Given the description of an element on the screen output the (x, y) to click on. 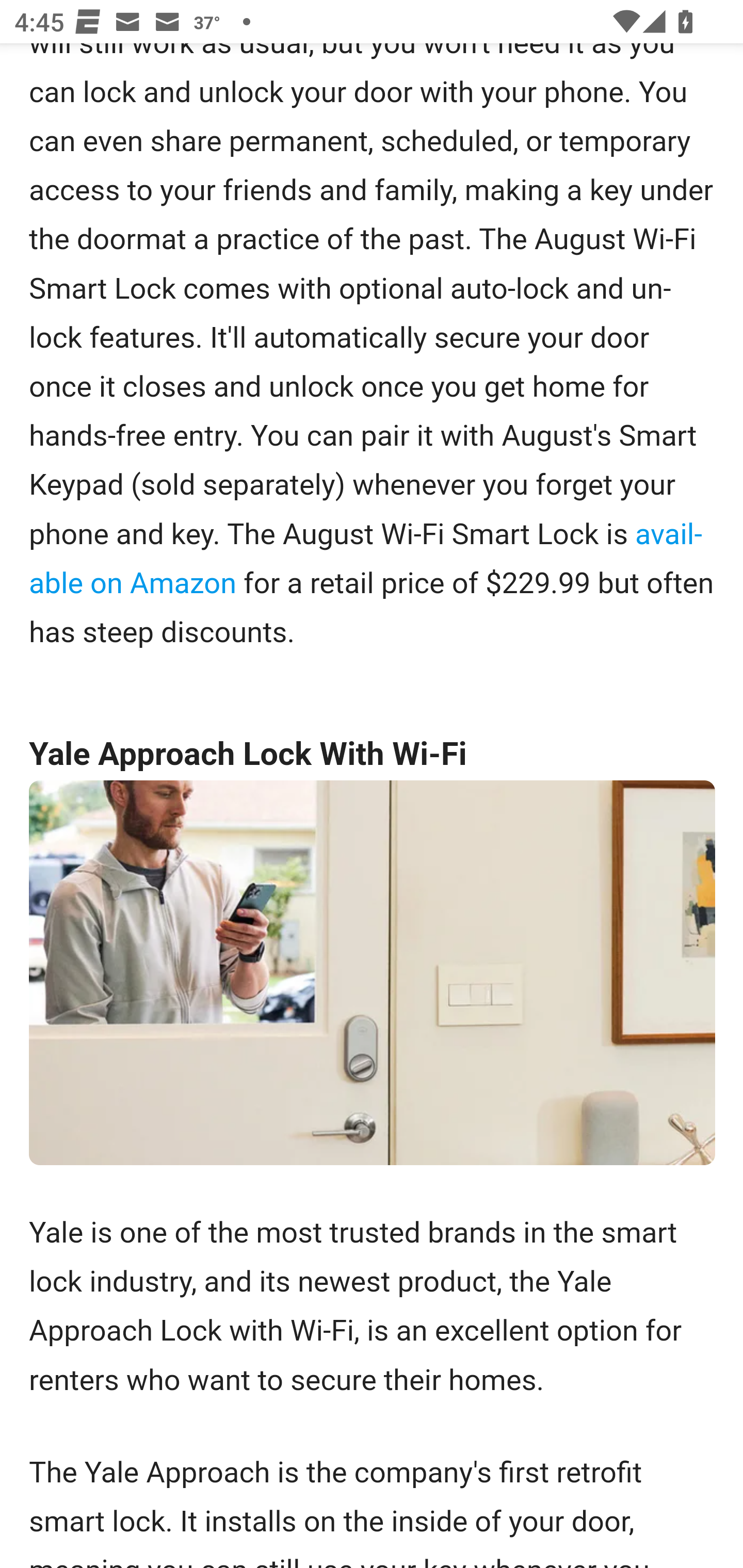
available on Amazon (365, 560)
